Given the description of an element on the screen output the (x, y) to click on. 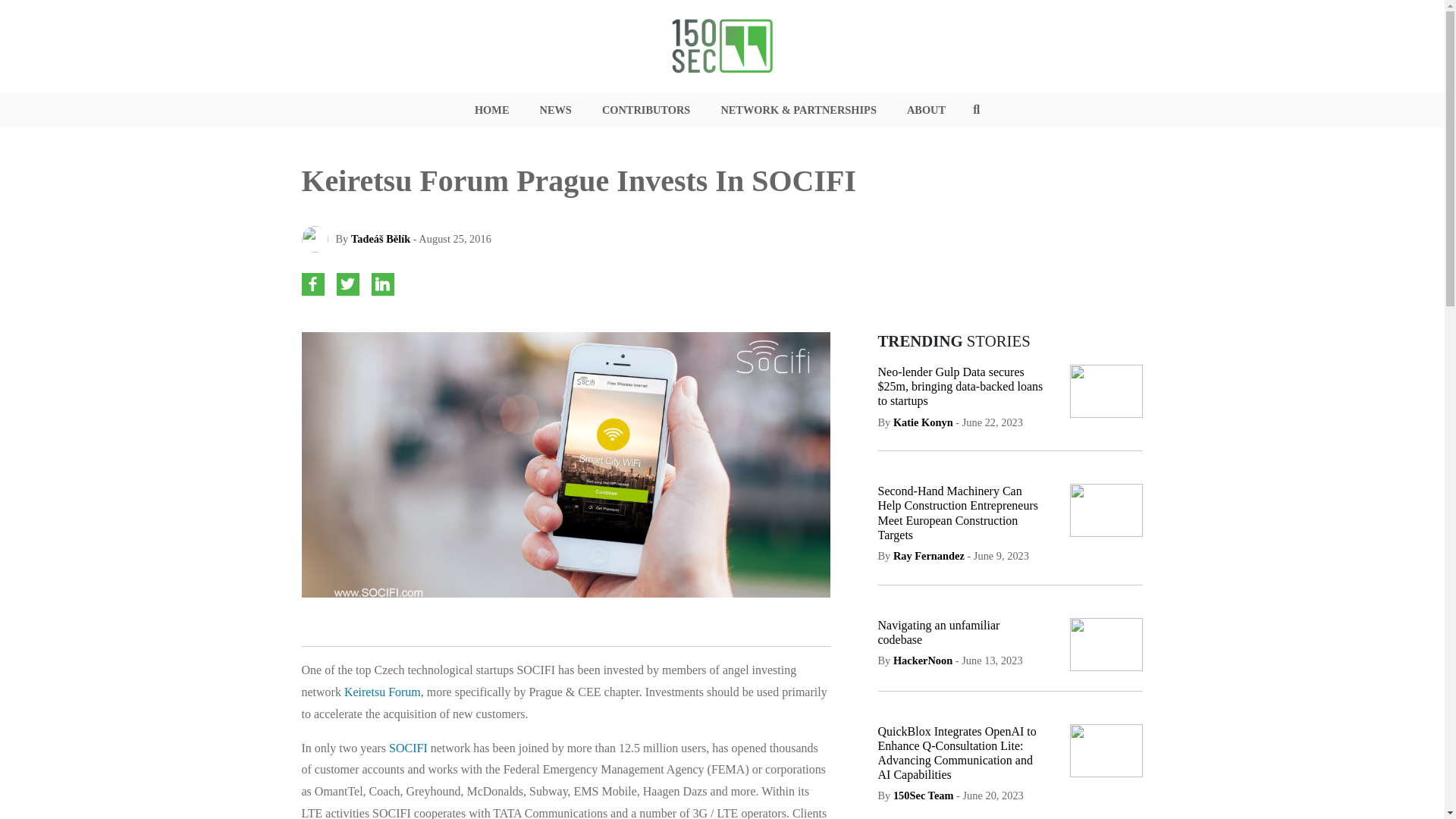
HOME (491, 110)
CONTRIBUTORS (646, 110)
SOCIFI (409, 748)
ABOUT (925, 110)
NEWS (554, 110)
Keiretsu Forum (381, 691)
